Given the description of an element on the screen output the (x, y) to click on. 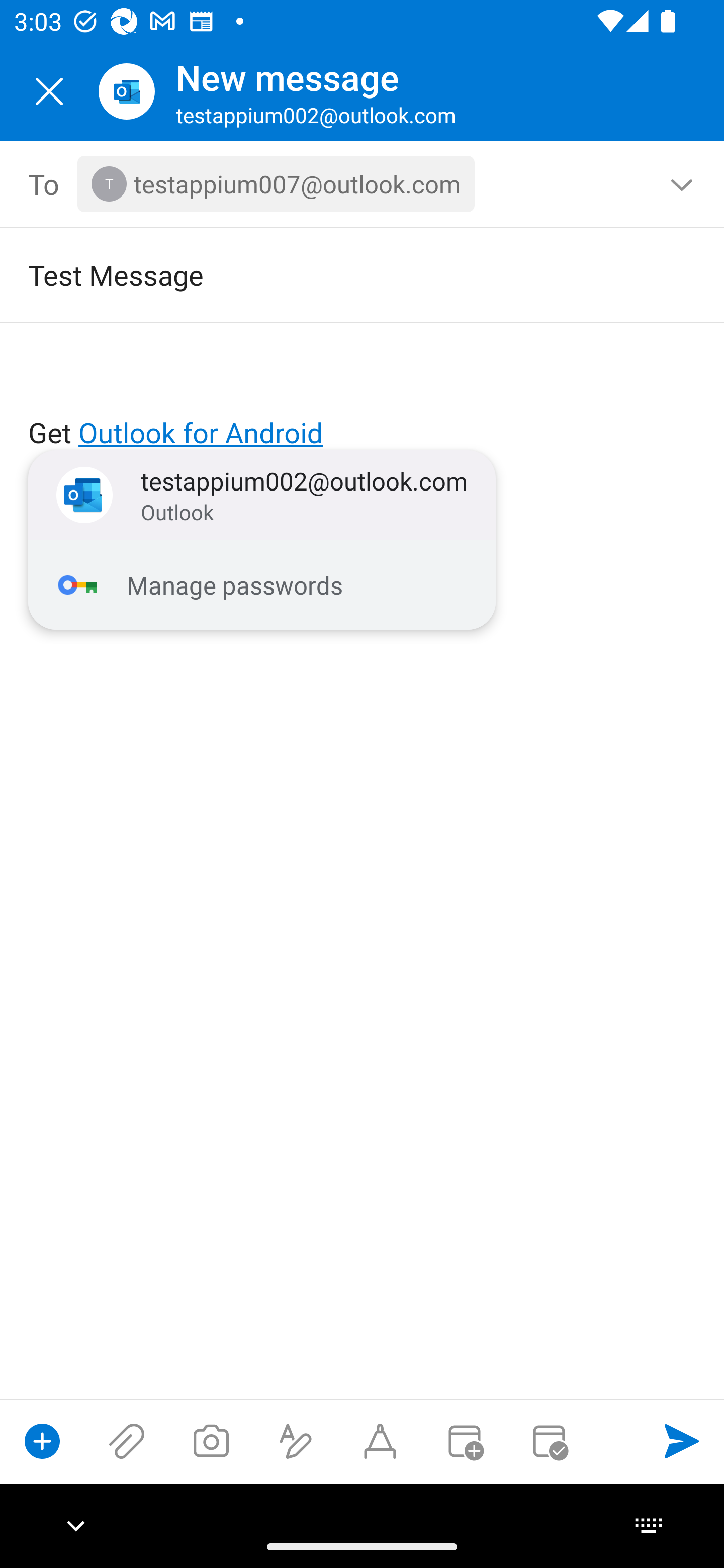
Outlook testappium002@outlook.com Outlook (261, 495)
Google Password Manager Manage passwords (261, 585)
